Given the description of an element on the screen output the (x, y) to click on. 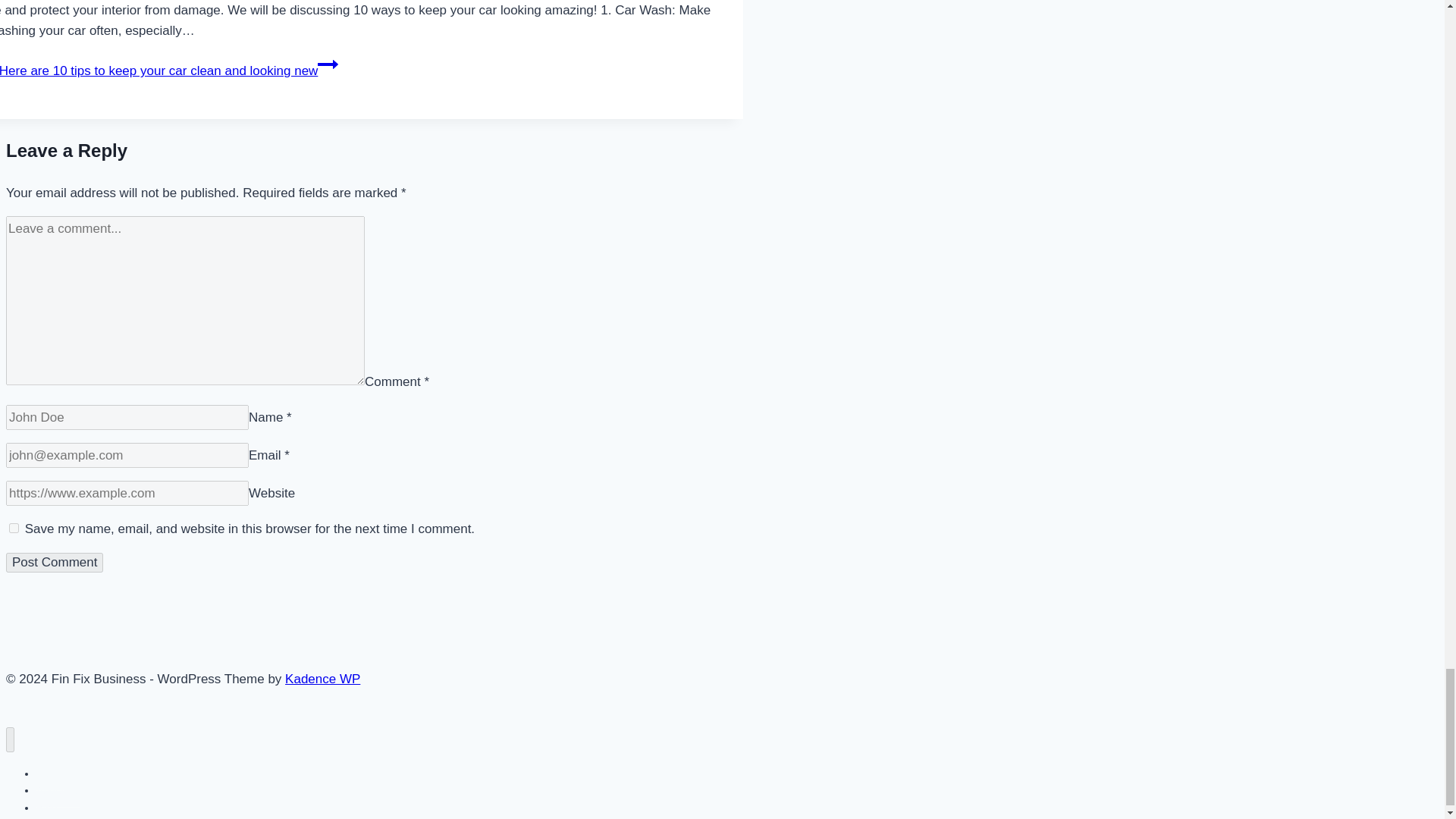
Post Comment (54, 562)
Kadence WP (322, 678)
Post Comment (54, 562)
Continue (327, 64)
yes (13, 528)
